Given the description of an element on the screen output the (x, y) to click on. 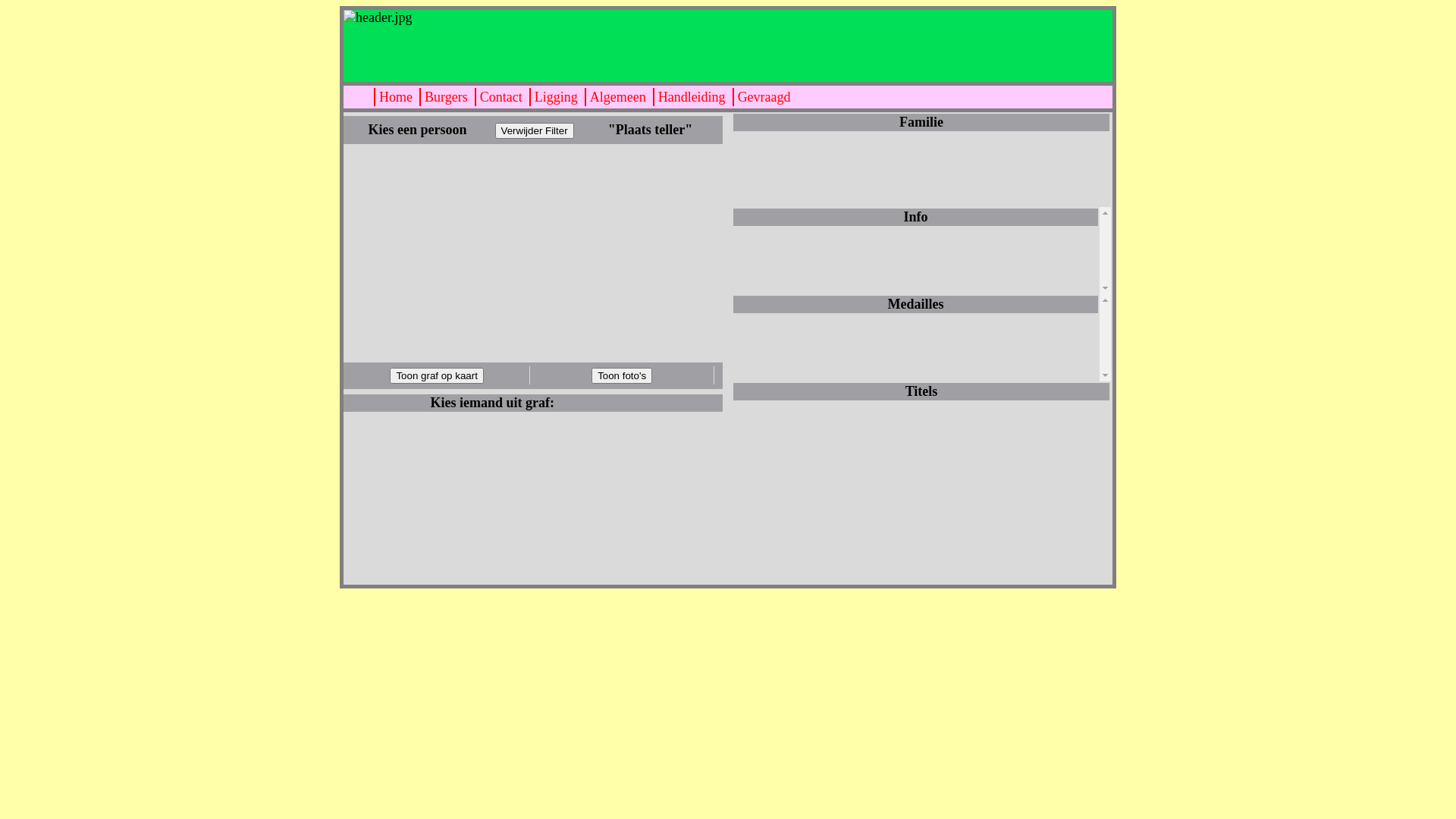
Contact Element type: text (500, 96)
Gevraagd Element type: text (763, 96)
Algemeen Element type: text (616, 96)
Ligging Element type: text (555, 96)
Home Element type: text (394, 96)
Burgers Element type: text (445, 96)
Handleiding Element type: text (690, 96)
